Given the description of an element on the screen output the (x, y) to click on. 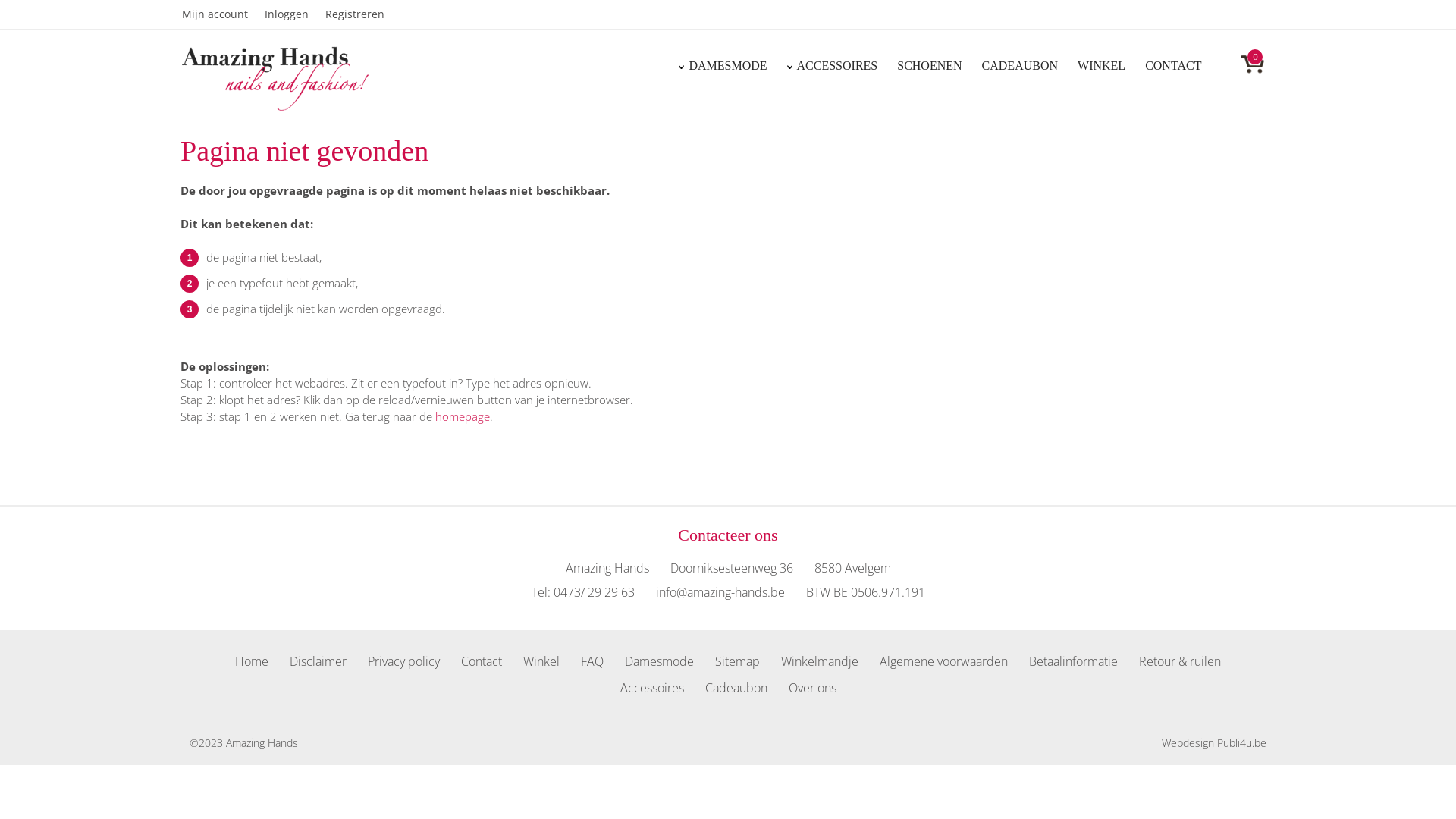
Disclaimer Element type: text (317, 658)
ACCESSOIRES Element type: text (837, 64)
Winkel Element type: text (541, 658)
Retour & ruilen Element type: text (1179, 658)
Betaalinformatie Element type: text (1073, 658)
Over ons Element type: text (812, 684)
Inloggen Element type: text (294, 14)
SCHOENEN Element type: text (929, 64)
Home Element type: text (251, 658)
WINKEL Element type: text (1101, 64)
Amazing Hands Element type: hover (275, 77)
DAMESMODE Element type: text (727, 64)
Registreren Element type: text (363, 14)
CADEAUBON Element type: text (1019, 64)
0 Element type: text (1243, 61)
Sitemap Element type: text (737, 658)
Accessoires Element type: text (652, 684)
Webdesign Publi4u.be Element type: text (1213, 742)
CONTACT Element type: text (1173, 64)
info@amazing-hands.be Element type: text (719, 591)
Contact Element type: text (481, 658)
Privacy policy Element type: text (403, 658)
Cadeaubon Element type: text (736, 684)
FAQ Element type: text (591, 658)
Damesmode Element type: text (658, 658)
homepage Element type: text (462, 415)
Mijn account Element type: text (223, 14)
Algemene voorwaarden Element type: text (943, 658)
Winkelmandje Element type: text (819, 658)
